Given the description of an element on the screen output the (x, y) to click on. 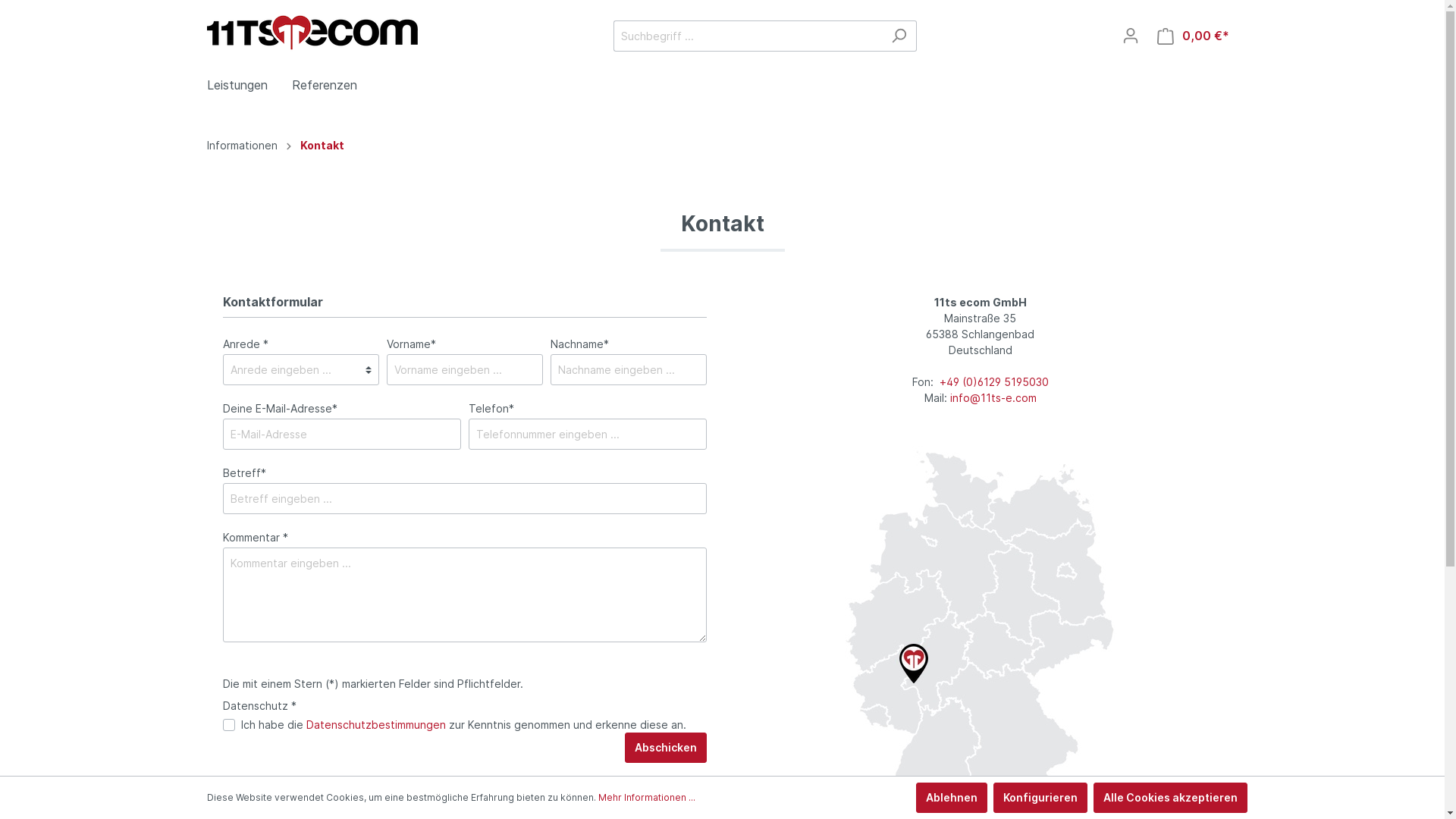
+49 (0)6129 5195030 Element type: text (993, 381)
Konfigurieren Element type: text (1040, 797)
Informationen Element type: text (241, 144)
Abschicken Element type: text (665, 747)
Zur Startseite wechseln Element type: hover (311, 32)
Referenzen Element type: text (335, 86)
Leistungen Element type: text (248, 86)
Datenschutzbestimmungen Element type: text (375, 724)
info@11ts-e.com Element type: text (992, 397)
Kontakt Element type: text (322, 144)
Ablehnen Element type: text (951, 797)
Alle Cookies akzeptieren Element type: text (1170, 797)
Mehr Informationen ... Element type: text (645, 797)
Mein Konto Element type: hover (1130, 35)
